Given the description of an element on the screen output the (x, y) to click on. 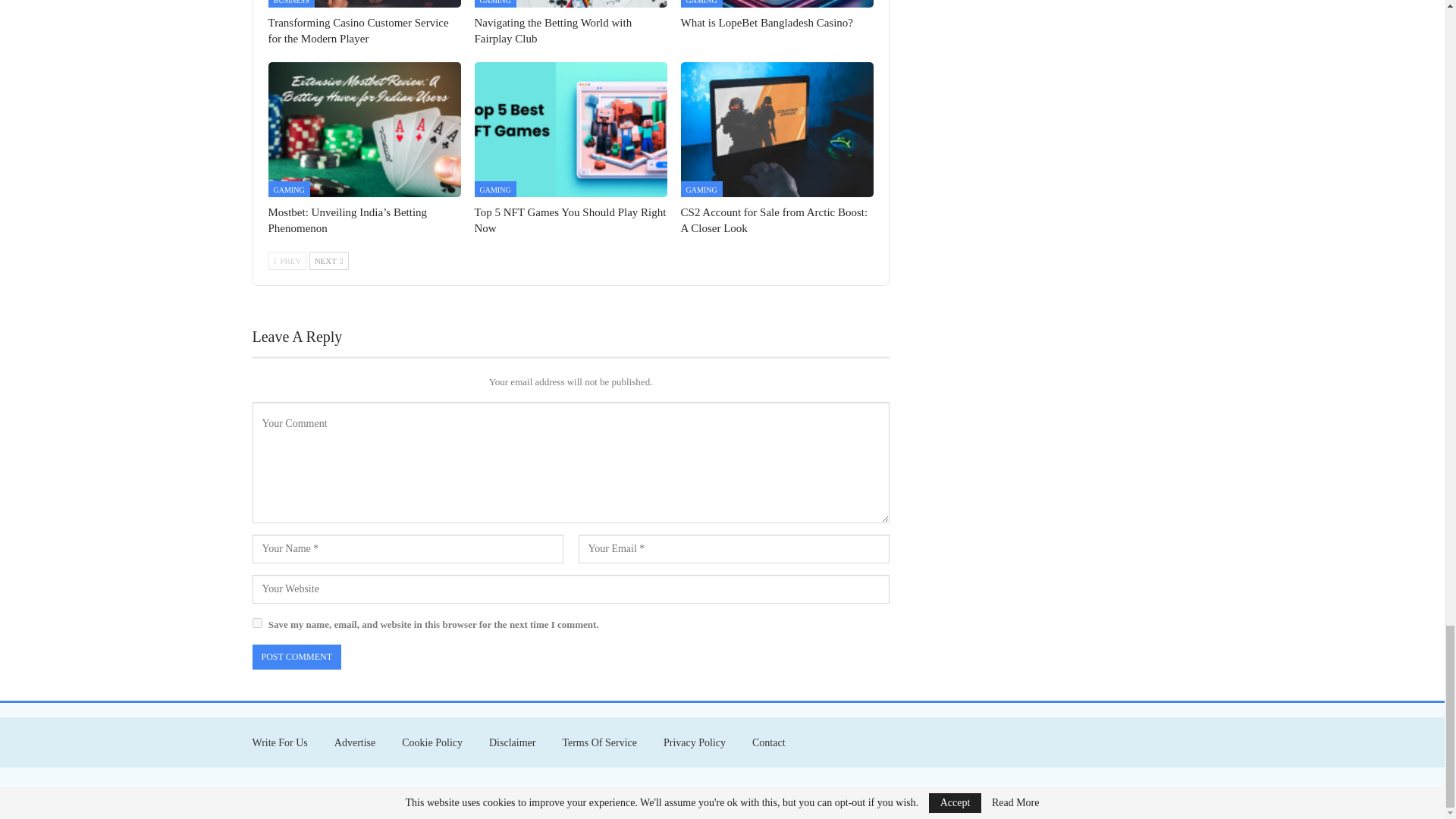
Navigating the Betting World with Fairplay Club (552, 30)
What is LopeBet Bangladesh Casino? (777, 3)
yes (256, 623)
Transforming Casino Customer Service for the Modern Player (364, 3)
Navigating the Betting World with Fairplay Club (570, 3)
Transforming Casino Customer Service for the Modern Player (357, 30)
Post Comment (295, 656)
What is LopeBet Bangladesh Casino? (767, 22)
Top 5 NFT Games You Should Play Right Now (570, 129)
